Given the description of an element on the screen output the (x, y) to click on. 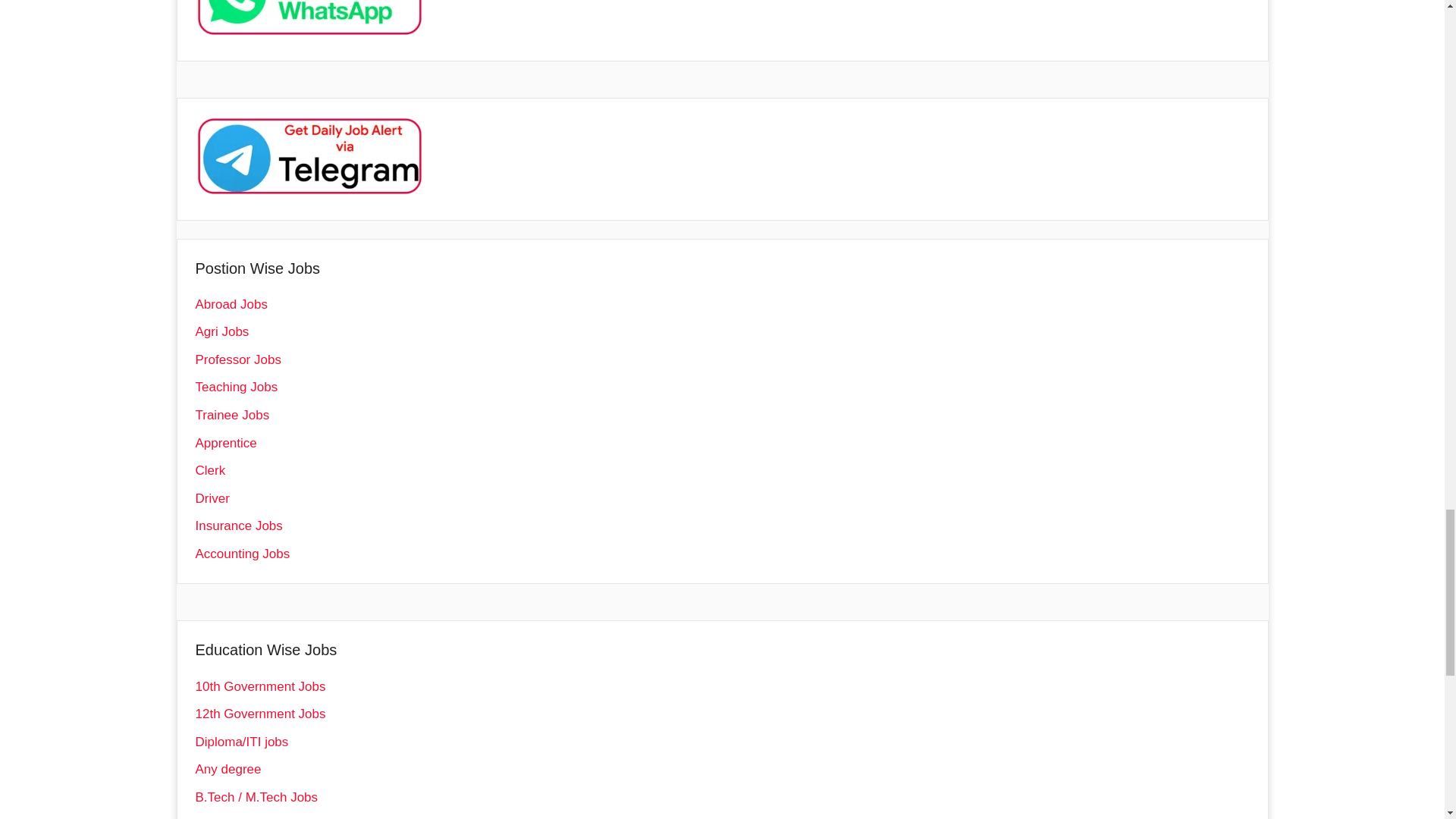
Agri Jobs (221, 331)
Insurance Jobs (238, 525)
Clerk (210, 470)
Trainee Jobs (232, 414)
Teaching Jobs (236, 386)
Driver (212, 498)
Accounting Jobs (242, 554)
Apprentice (226, 442)
12th Government Jobs (260, 713)
Professor Jobs (238, 359)
